Given the description of an element on the screen output the (x, y) to click on. 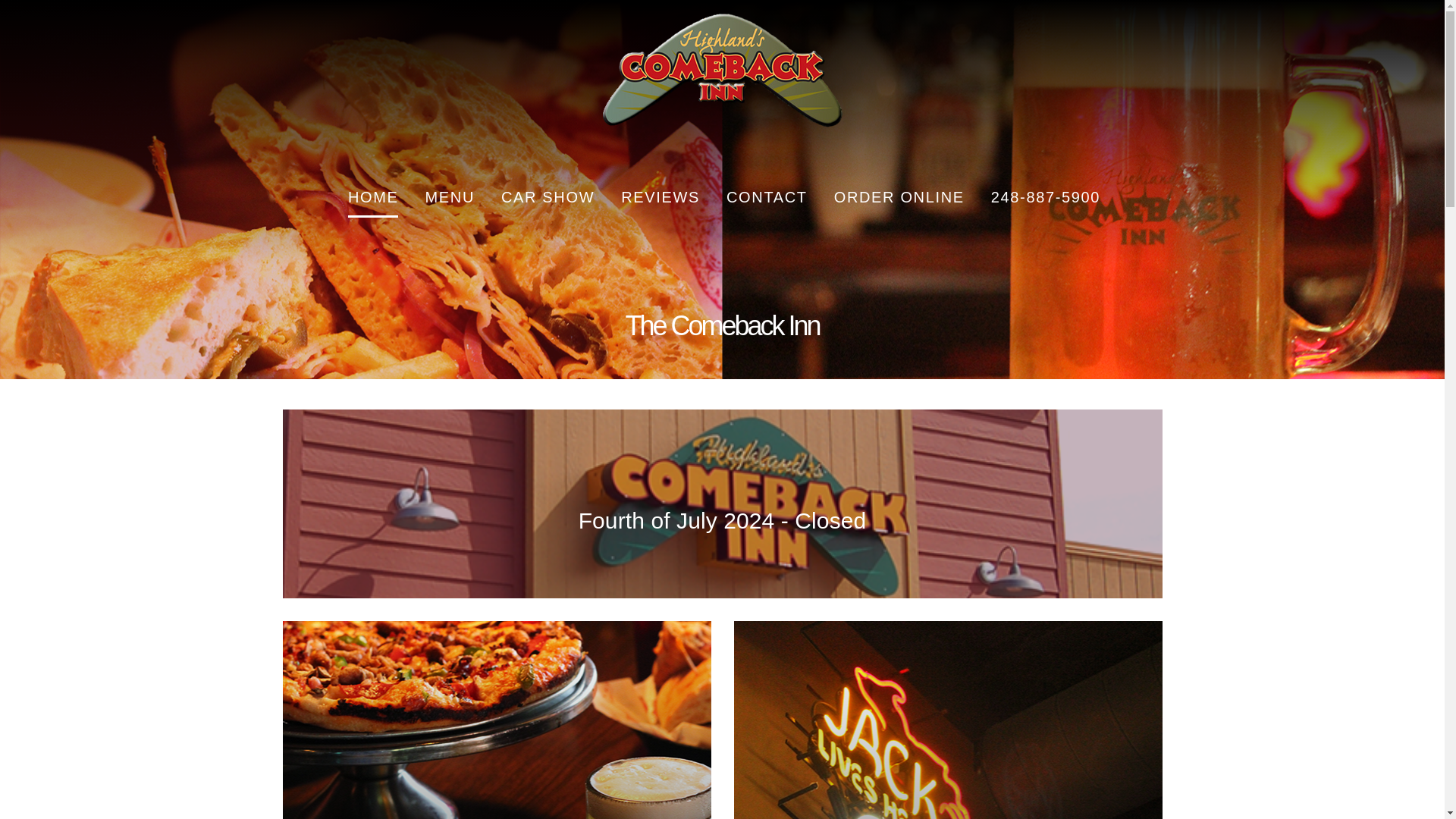
CAR SHOW (547, 196)
ORDER ONLINE (898, 196)
CONTACT (767, 196)
HOME (372, 196)
REVIEWS (660, 196)
logoshadow (722, 88)
248-887-5900 (1045, 196)
MENU (449, 196)
